Given the description of an element on the screen output the (x, y) to click on. 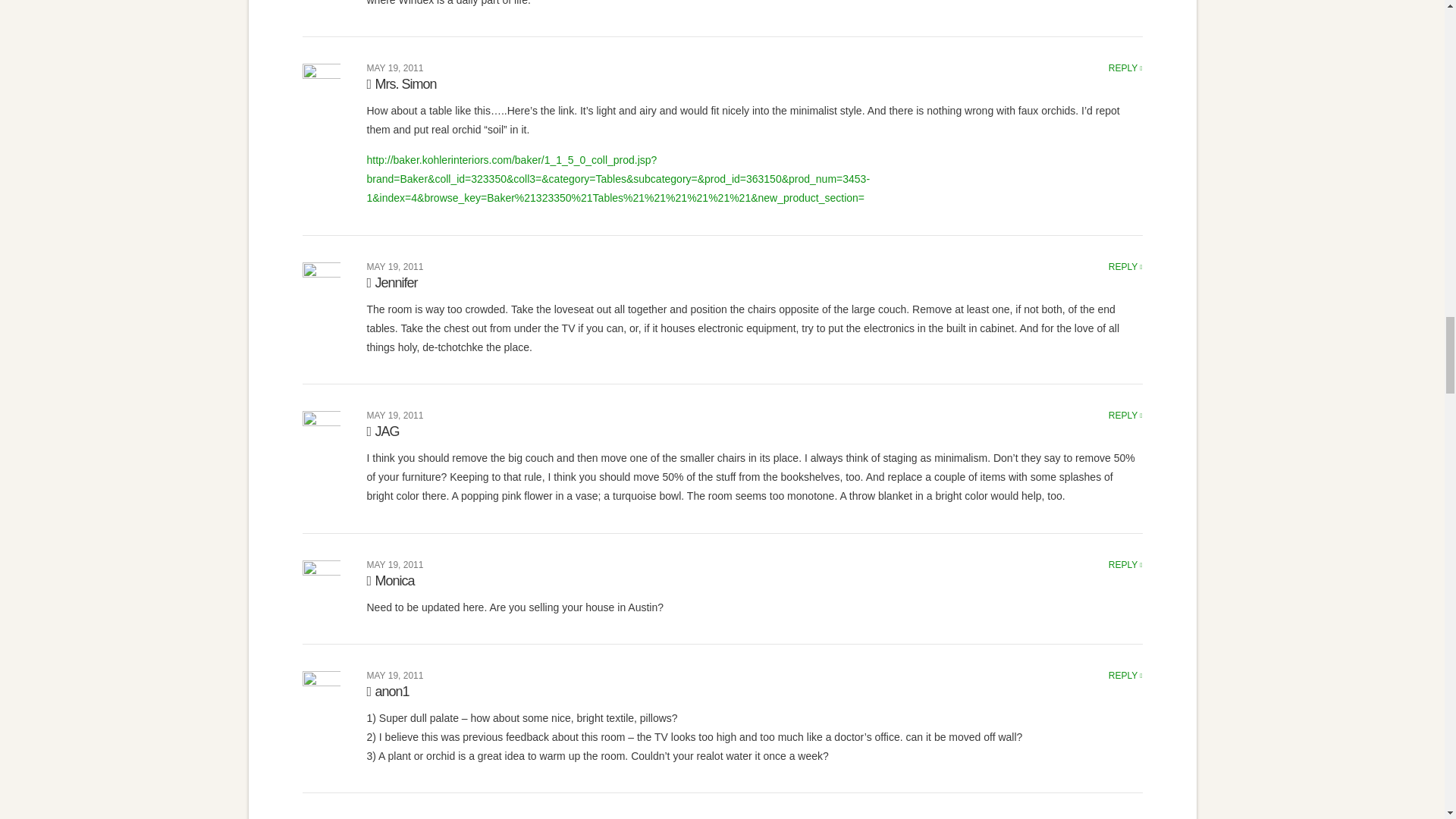
MAY 19, 2011 (394, 67)
